Given the description of an element on the screen output the (x, y) to click on. 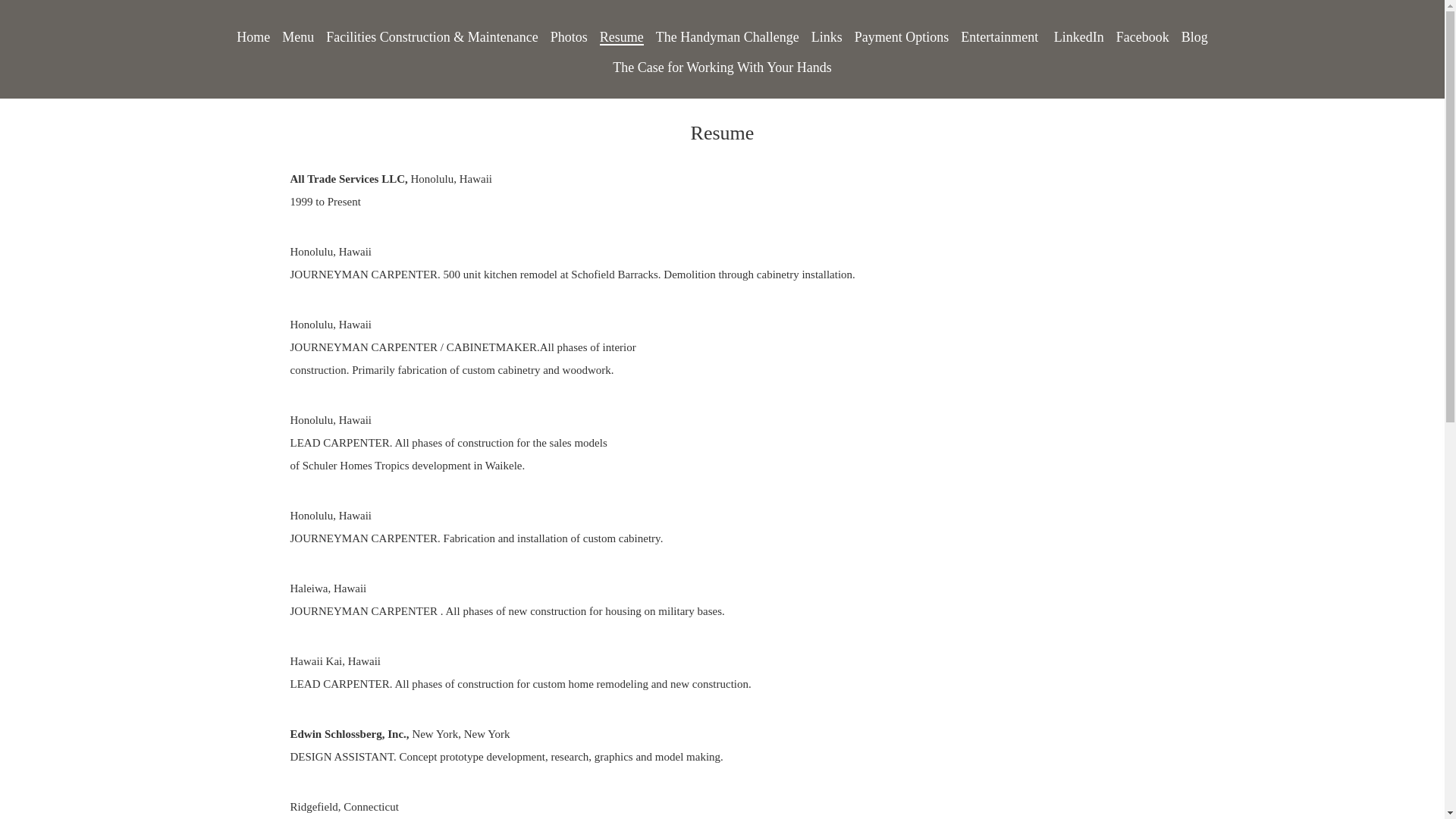
LinkedIn (1078, 33)
The Handyman Challenge (727, 33)
Facebook (1142, 33)
Entertainment  (1000, 33)
Menu (298, 33)
The Case for Working With Your Hands (721, 64)
Payment Options (901, 33)
Home (252, 33)
Resume (621, 33)
Photos (569, 33)
